Given the description of an element on the screen output the (x, y) to click on. 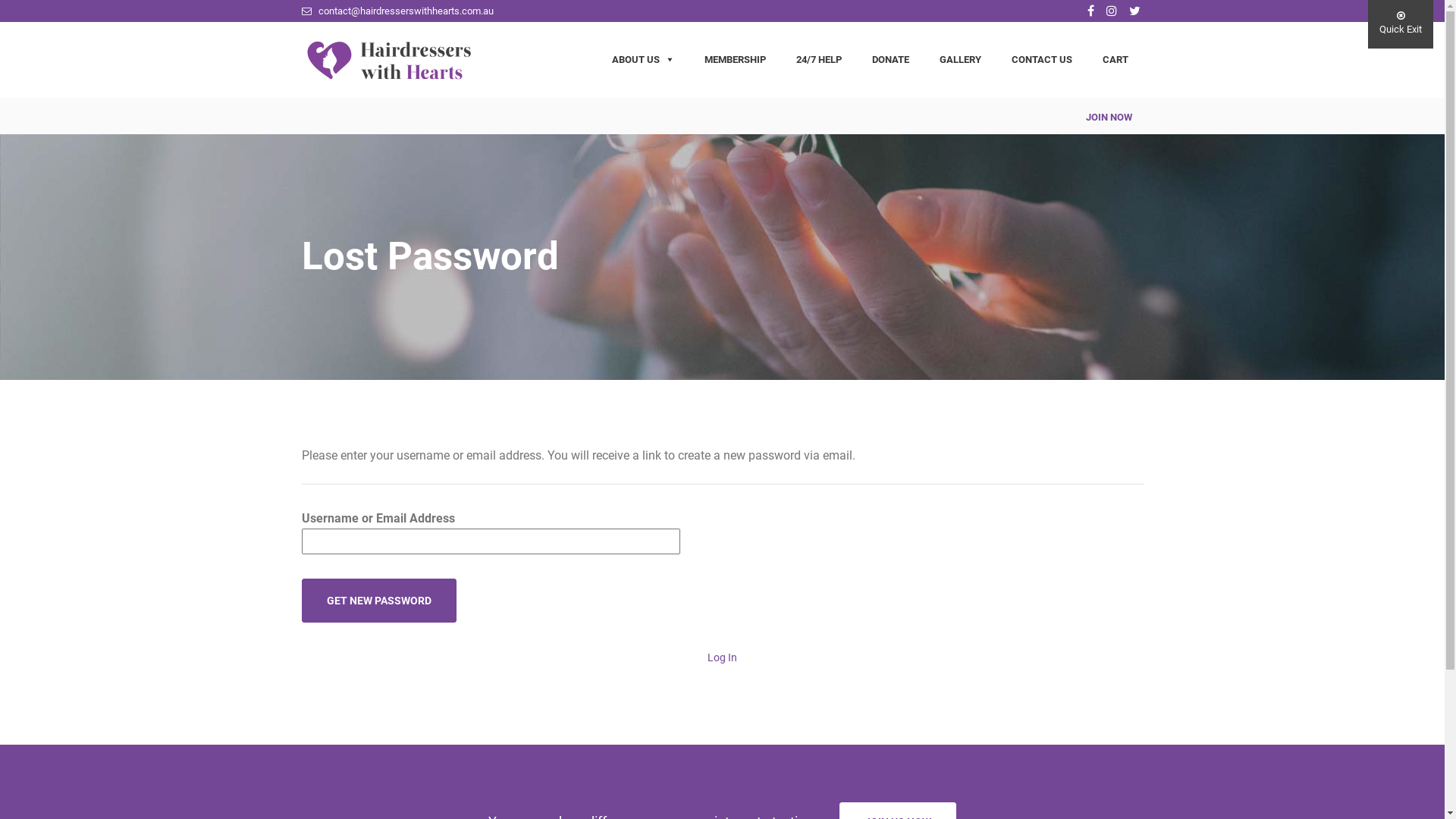
Find us on Instagram Element type: hover (1110, 10)
DONATE Element type: text (890, 59)
CART Element type: text (1115, 59)
CONTACT US Element type: text (1041, 59)
  contact@hairdresserswithhearts.com.au Element type: text (397, 10)
GALLERY Element type: text (959, 59)
ABOUT US Element type: text (642, 59)
Get New Password Element type: text (378, 600)
Quick Exit Element type: text (1400, 24)
24/7 HELP Element type: text (818, 59)
Find us on Twitter Element type: hover (1133, 10)
Log In Element type: text (722, 657)
Find us on Facebook Element type: hover (1090, 10)
MEMBERSHIP Element type: text (734, 59)
JOIN NOW Element type: text (1114, 117)
